Given the description of an element on the screen output the (x, y) to click on. 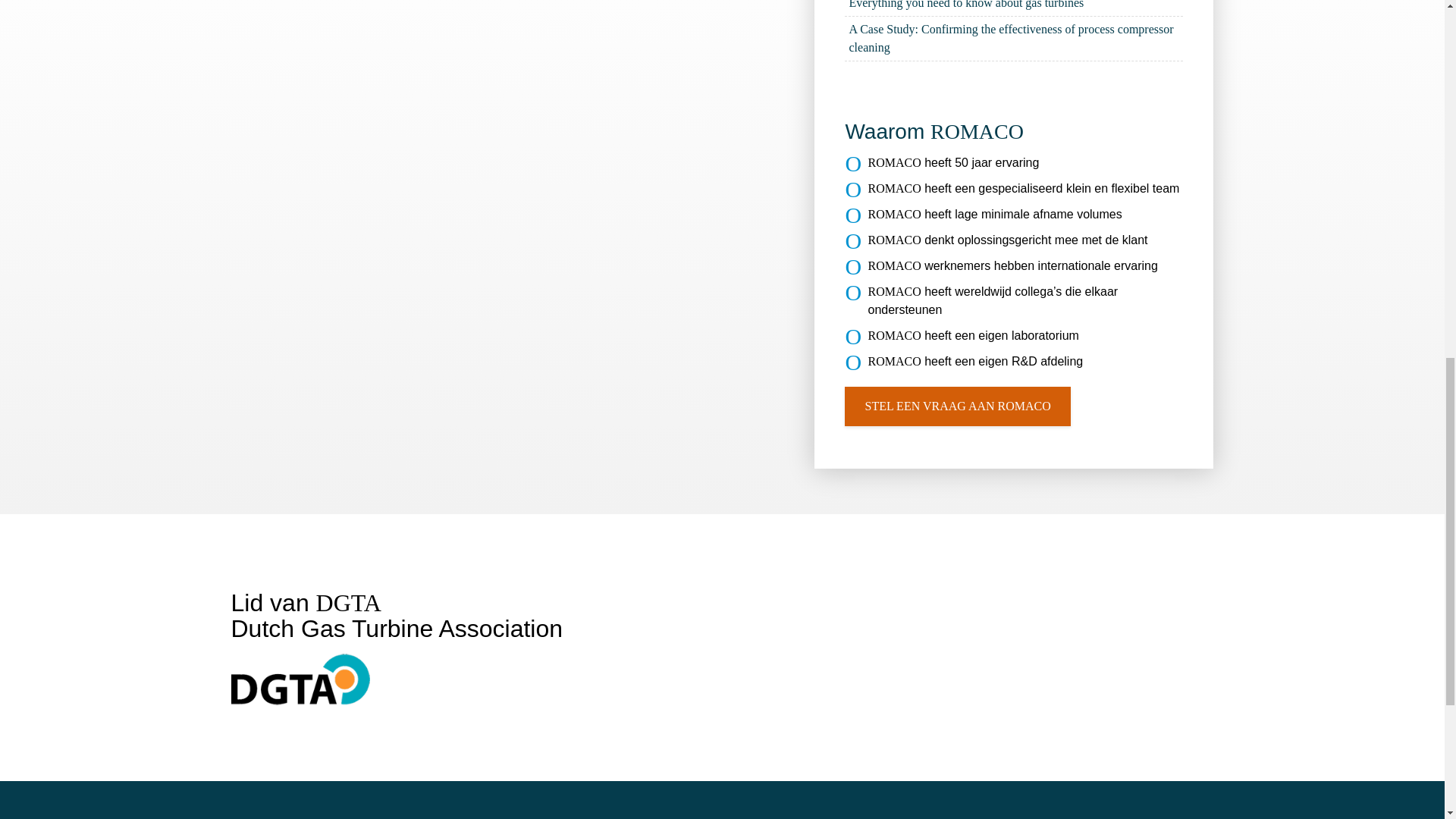
STEL EEN VRAAG AAN ROMACO (957, 405)
Everything you need to know about gas turbines (1013, 8)
